Given the description of an element on the screen output the (x, y) to click on. 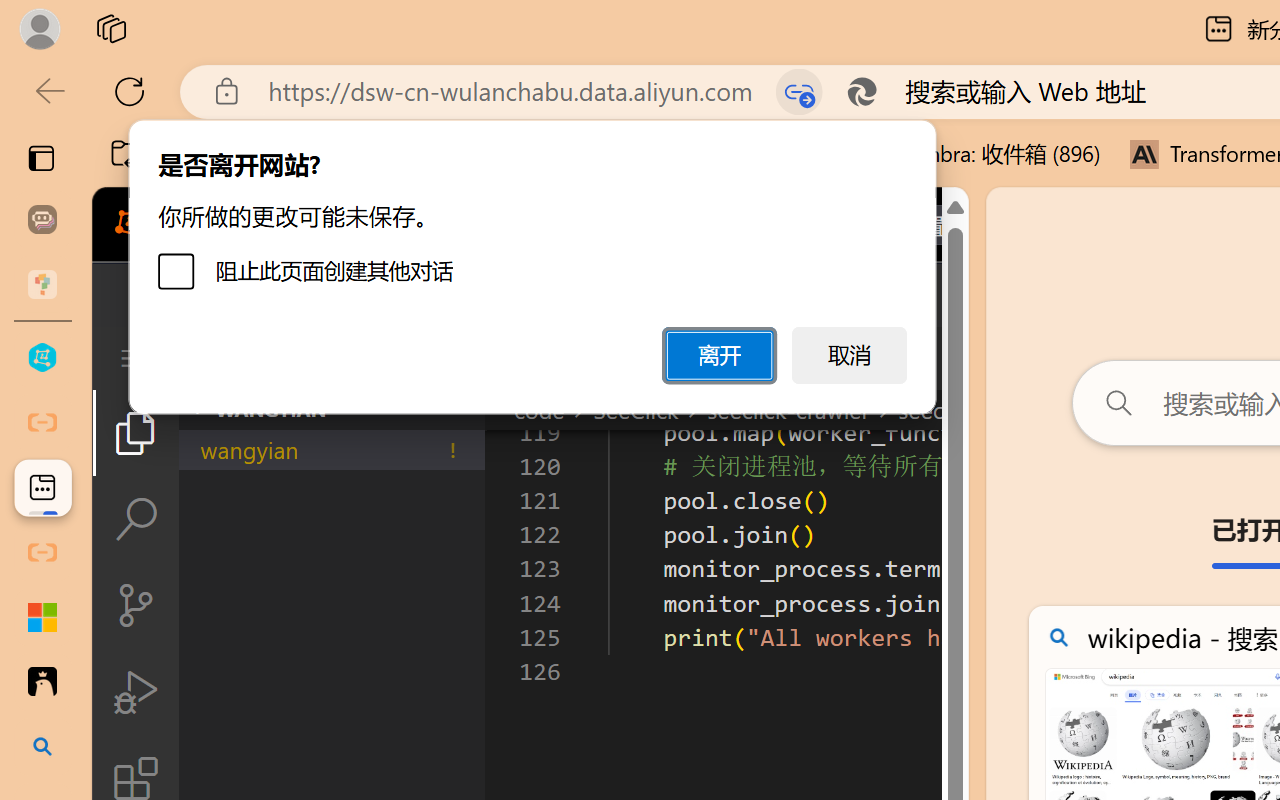
Run and Debug (Ctrl+Shift+D) (135, 692)
Adjust indents and spacing - Microsoft Support (42, 617)
